Given the description of an element on the screen output the (x, y) to click on. 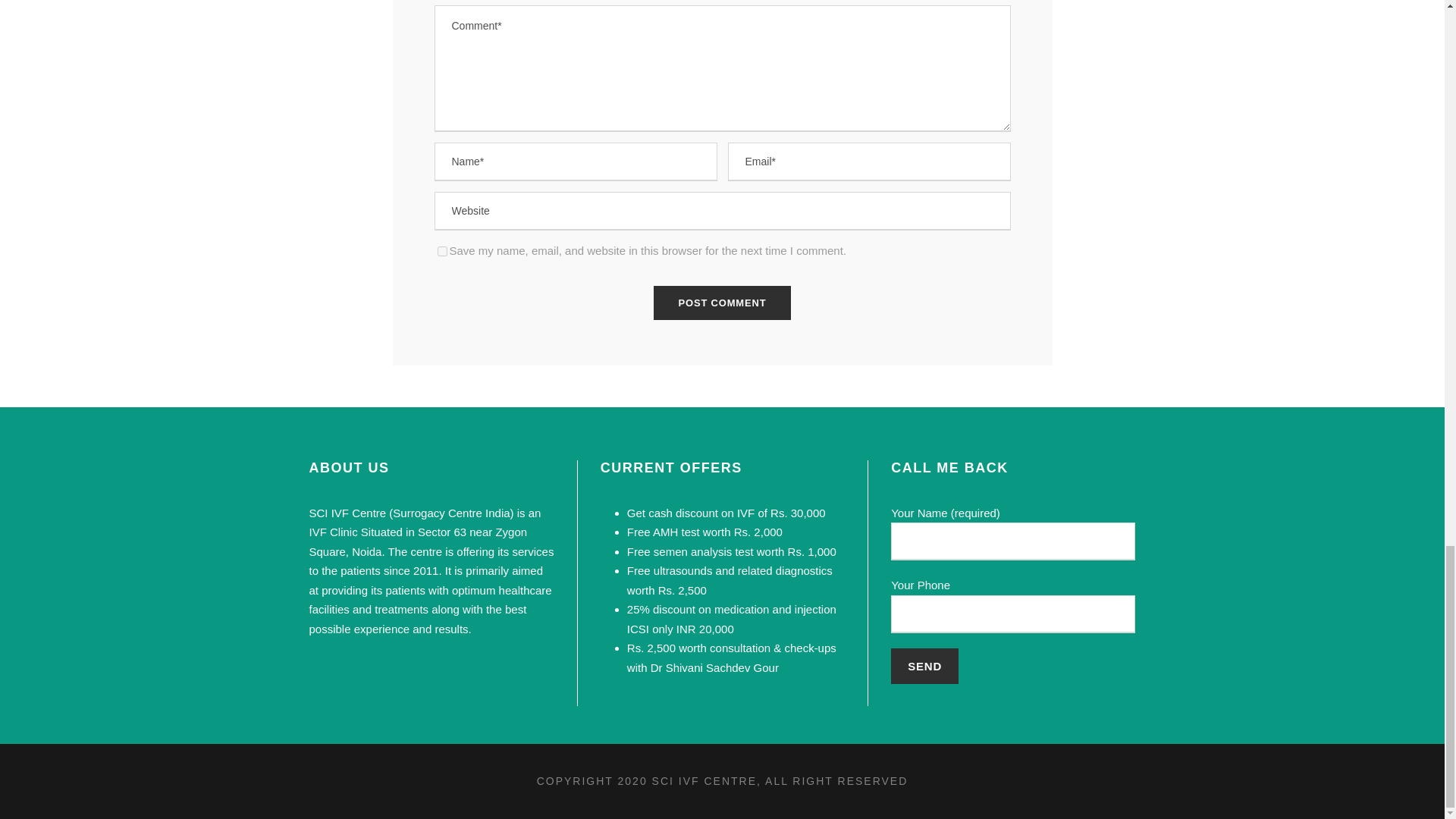
yes (441, 251)
Post Comment (722, 302)
Send (924, 665)
